Given the description of an element on the screen output the (x, y) to click on. 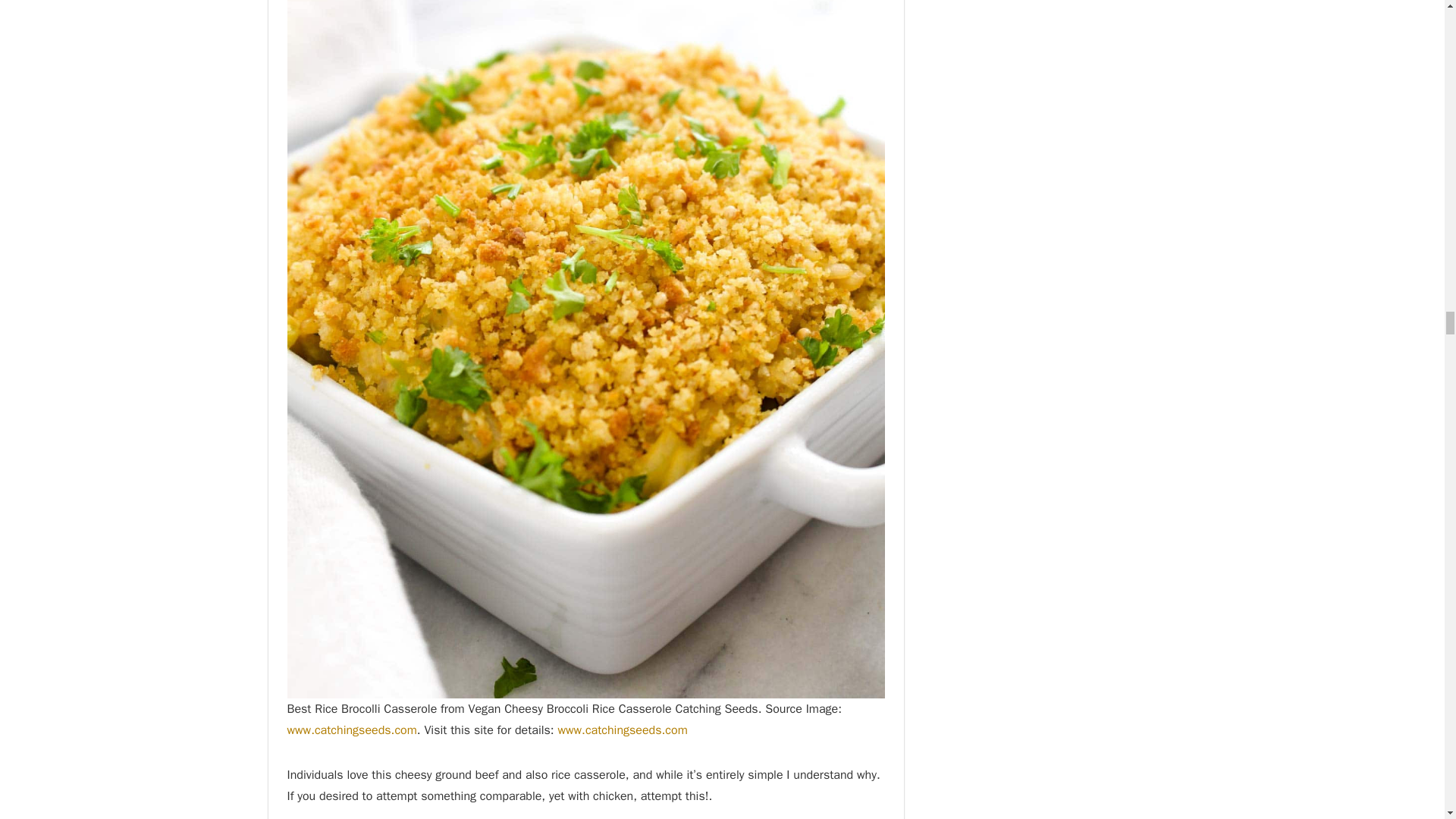
www.catchingseeds.com (351, 729)
www.catchingseeds.com (622, 729)
